Given the description of an element on the screen output the (x, y) to click on. 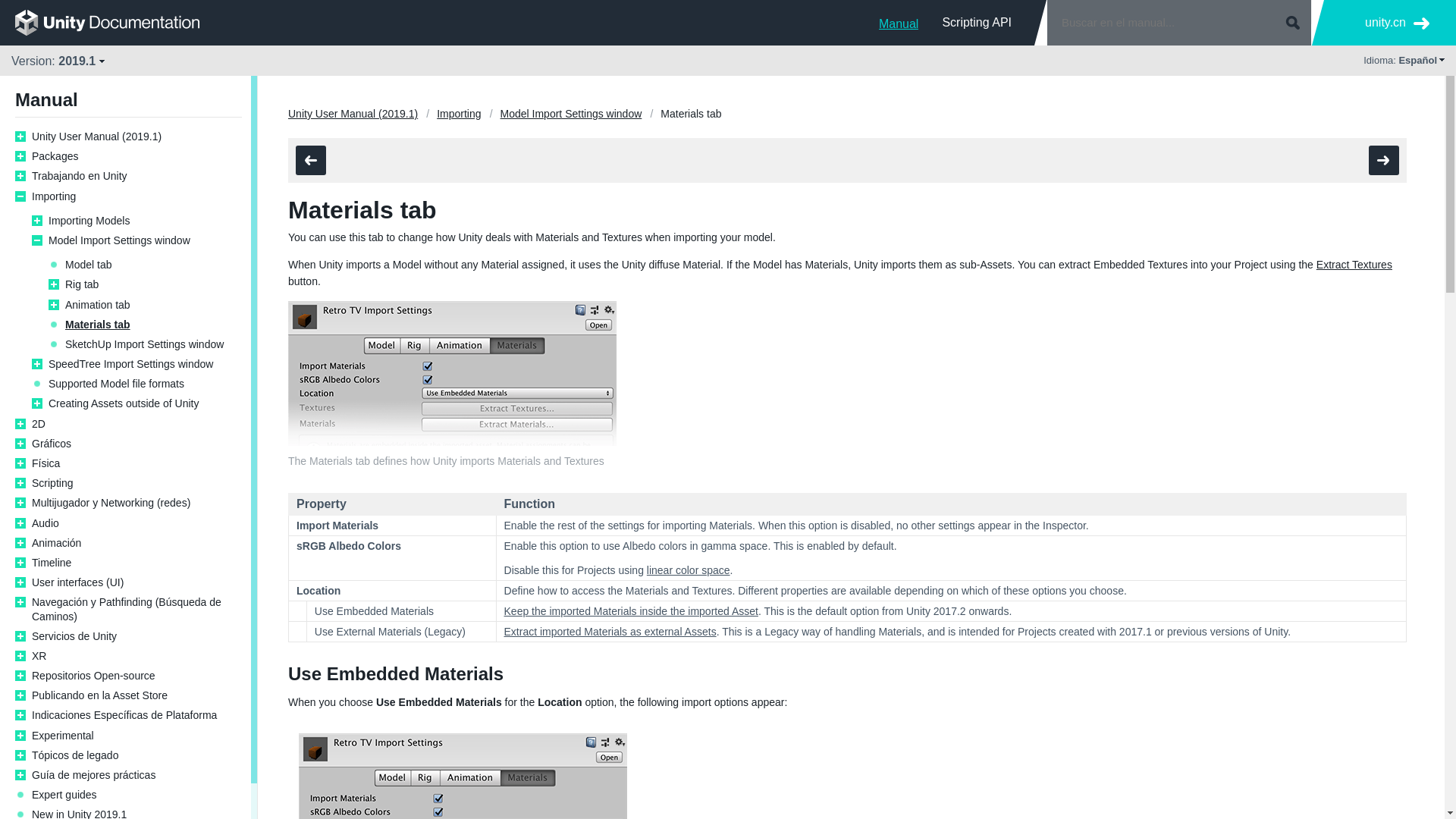
Manual (898, 22)
Scripting API (976, 22)
unity.cn (1397, 22)
